Given the description of an element on the screen output the (x, y) to click on. 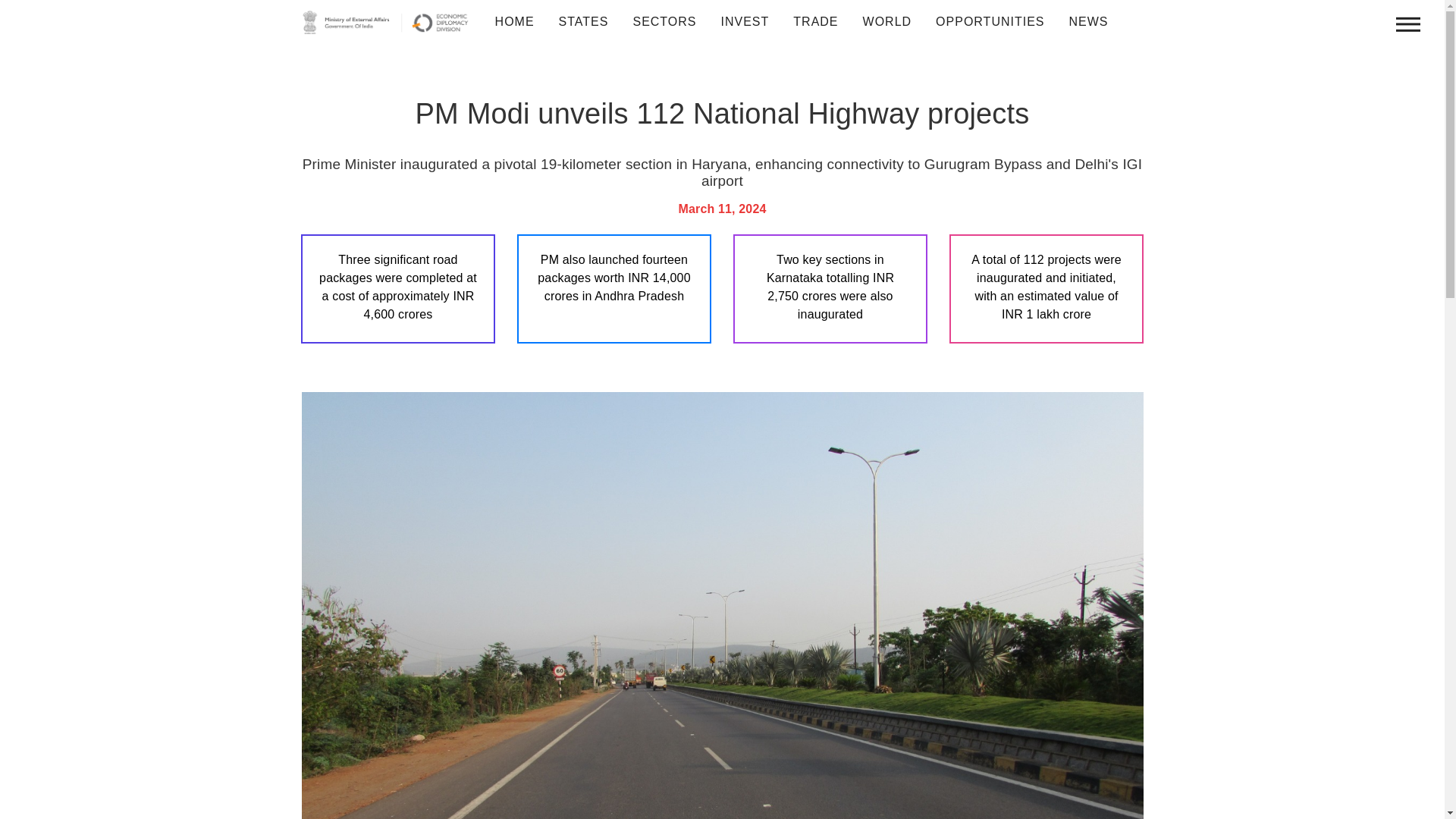
STATES (583, 22)
HOME (514, 22)
